Given the description of an element on the screen output the (x, y) to click on. 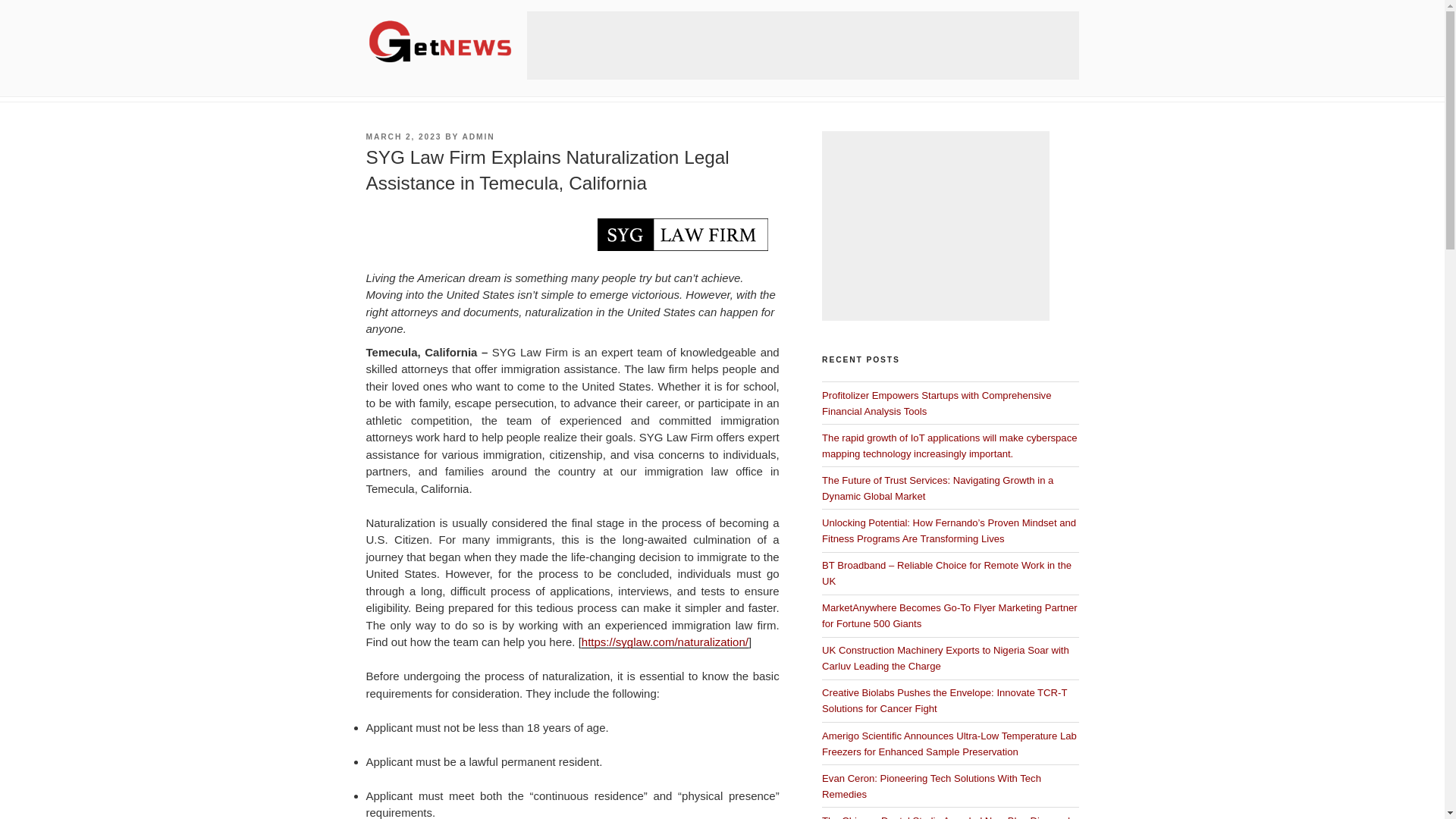
GET NEWS (441, 92)
Evan Ceron: Pioneering Tech Solutions With Tech Remedies (931, 786)
